Given the description of an element on the screen output the (x, y) to click on. 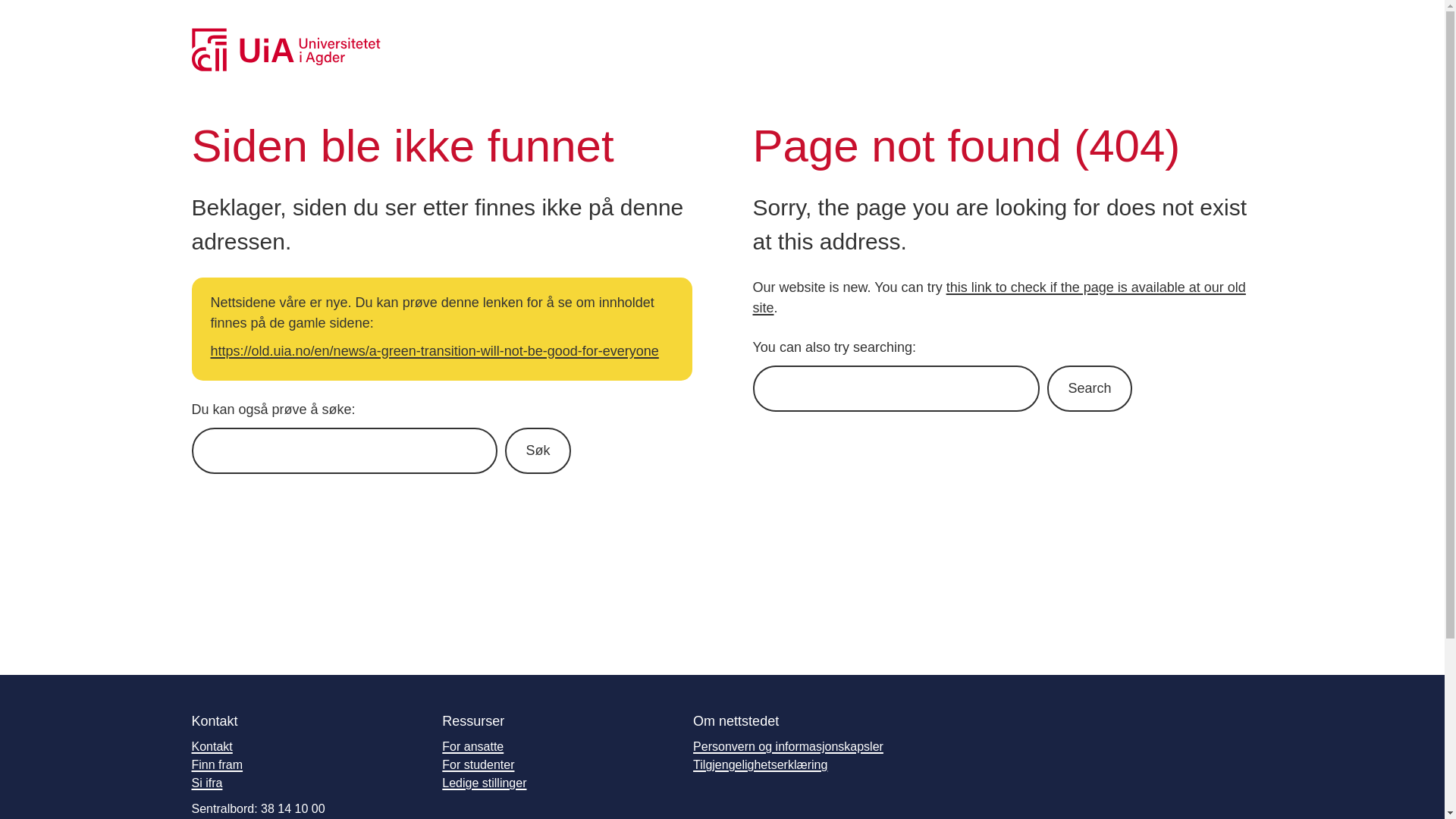
Ledige stillinger (483, 782)
Kontakt (210, 746)
Search (1088, 388)
Si ifra (206, 782)
this link to check if the page is available at our old site (998, 297)
Finn fram (216, 764)
For studenter (477, 764)
Personvern og informasjonskapsler (788, 746)
For ansatte (472, 746)
